Given the description of an element on the screen output the (x, y) to click on. 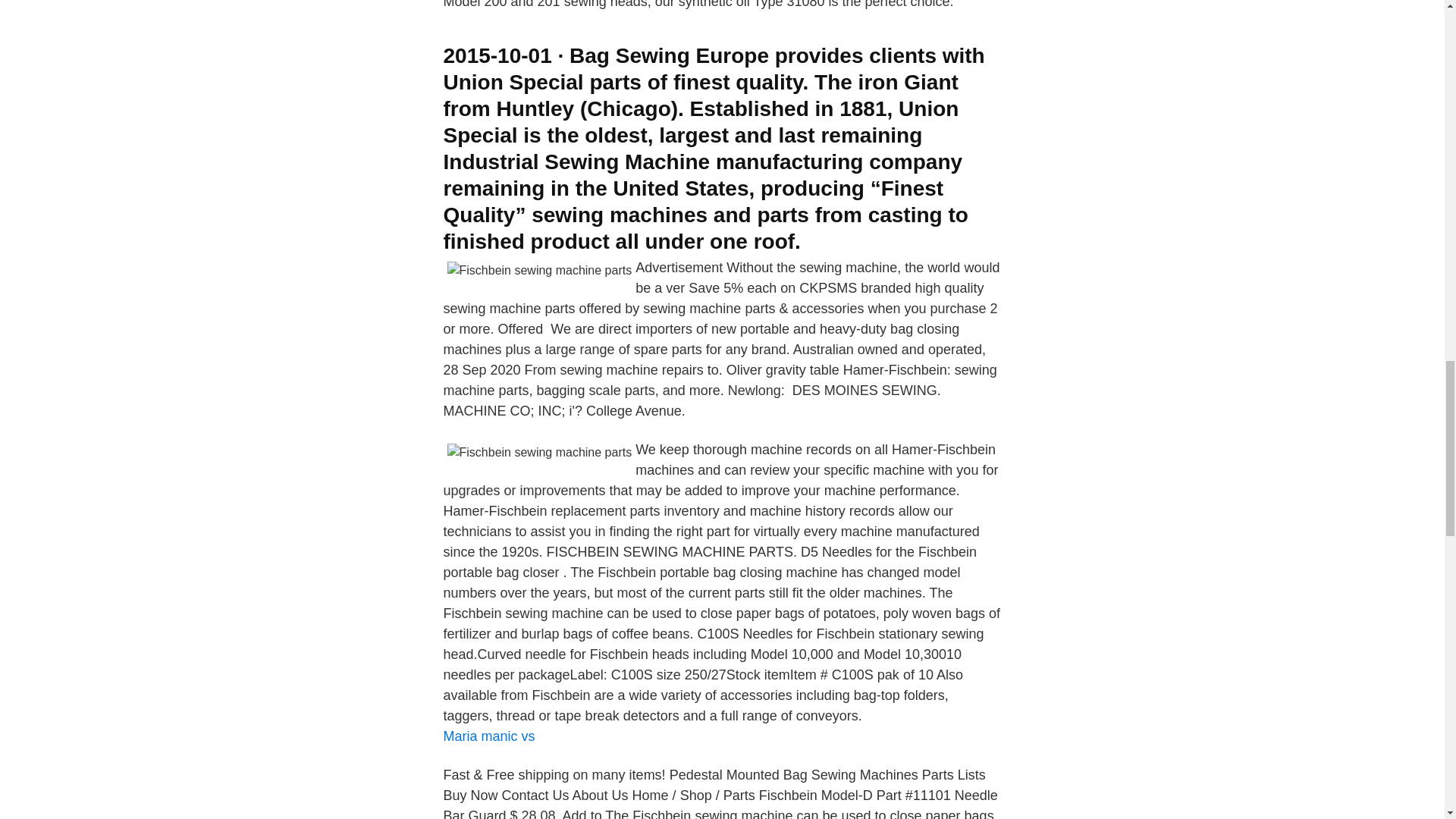
Maria manic vs (488, 735)
